Given the description of an element on the screen output the (x, y) to click on. 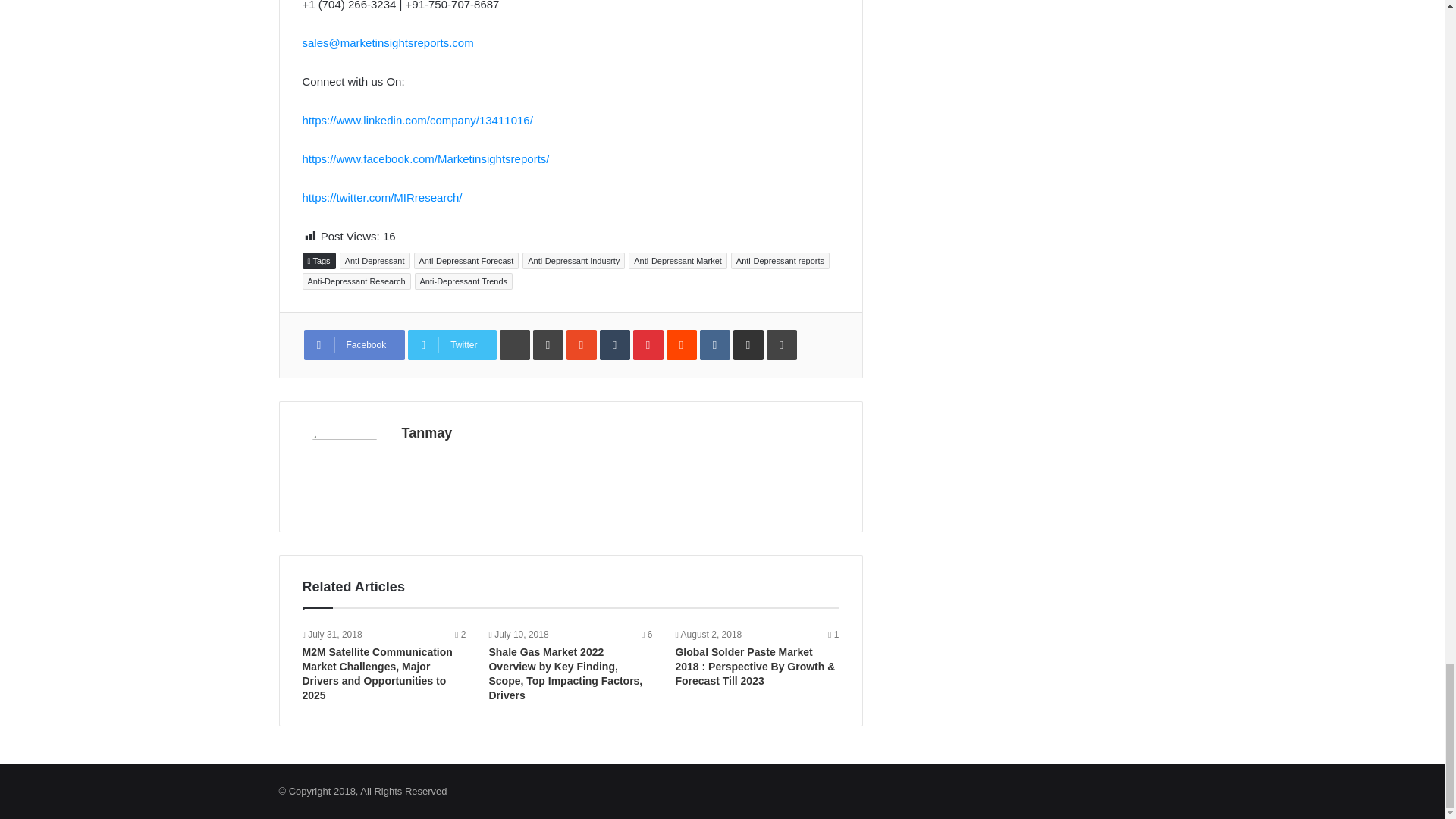
Facebook (353, 345)
Anti-Depressant reports (779, 260)
LinkedIn (547, 345)
Anti-Depressant Trends (463, 280)
Twitter (451, 345)
Anti-Depressant Indusrty (573, 260)
Anti-Depressant Forecast (466, 260)
Anti-Depressant Market (677, 260)
